Given the description of an element on the screen output the (x, y) to click on. 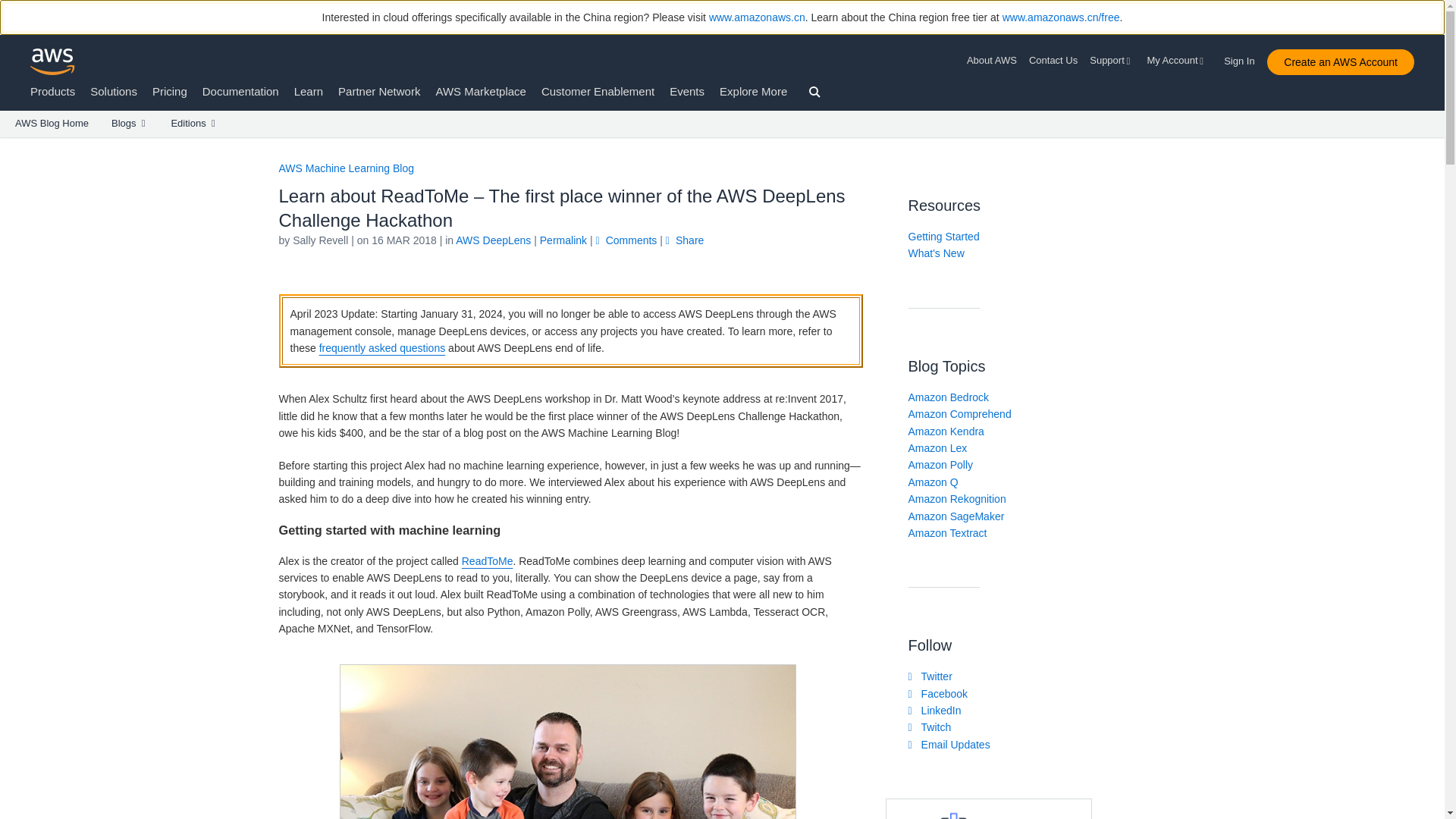
Solutions (113, 91)
Documentation (240, 91)
Contact Us (1053, 60)
Skip to Main Content (7, 143)
Products (52, 91)
AWS Marketplace (480, 91)
Sign In (1243, 58)
Learn (308, 91)
About AWS (994, 60)
Customer Enablement (597, 91)
My Account  (1177, 60)
Events (686, 91)
Create an AWS Account (1339, 62)
www.amazonaws.cn (757, 17)
Click here to return to Amazon Web Services homepage (52, 61)
